Given the description of an element on the screen output the (x, y) to click on. 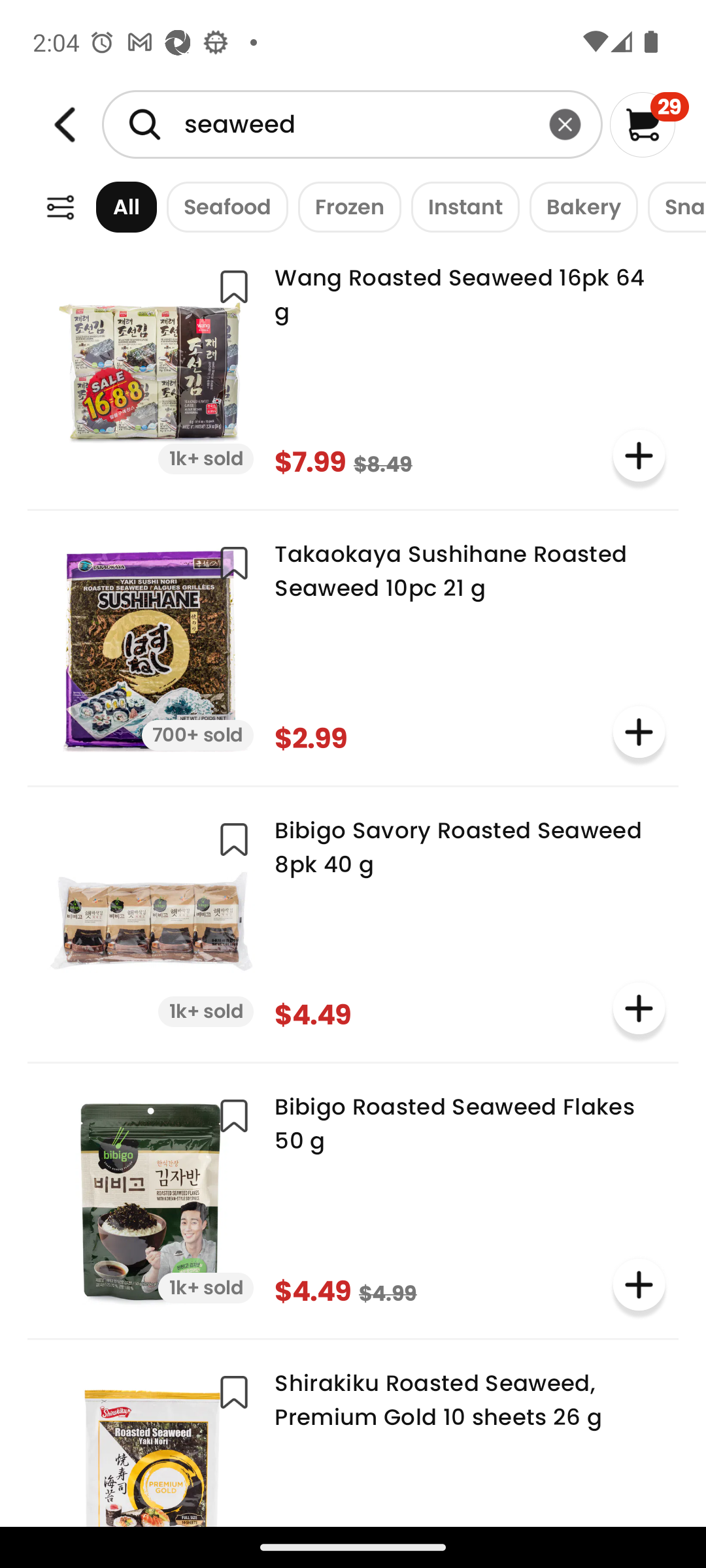
seaweed (351, 124)
29 (649, 124)
Weee! (60, 207)
All (108, 206)
Seafood (222, 206)
Frozen (344, 206)
Instant (460, 206)
Bakery (578, 206)
Snacks (672, 206)
